Given the description of an element on the screen output the (x, y) to click on. 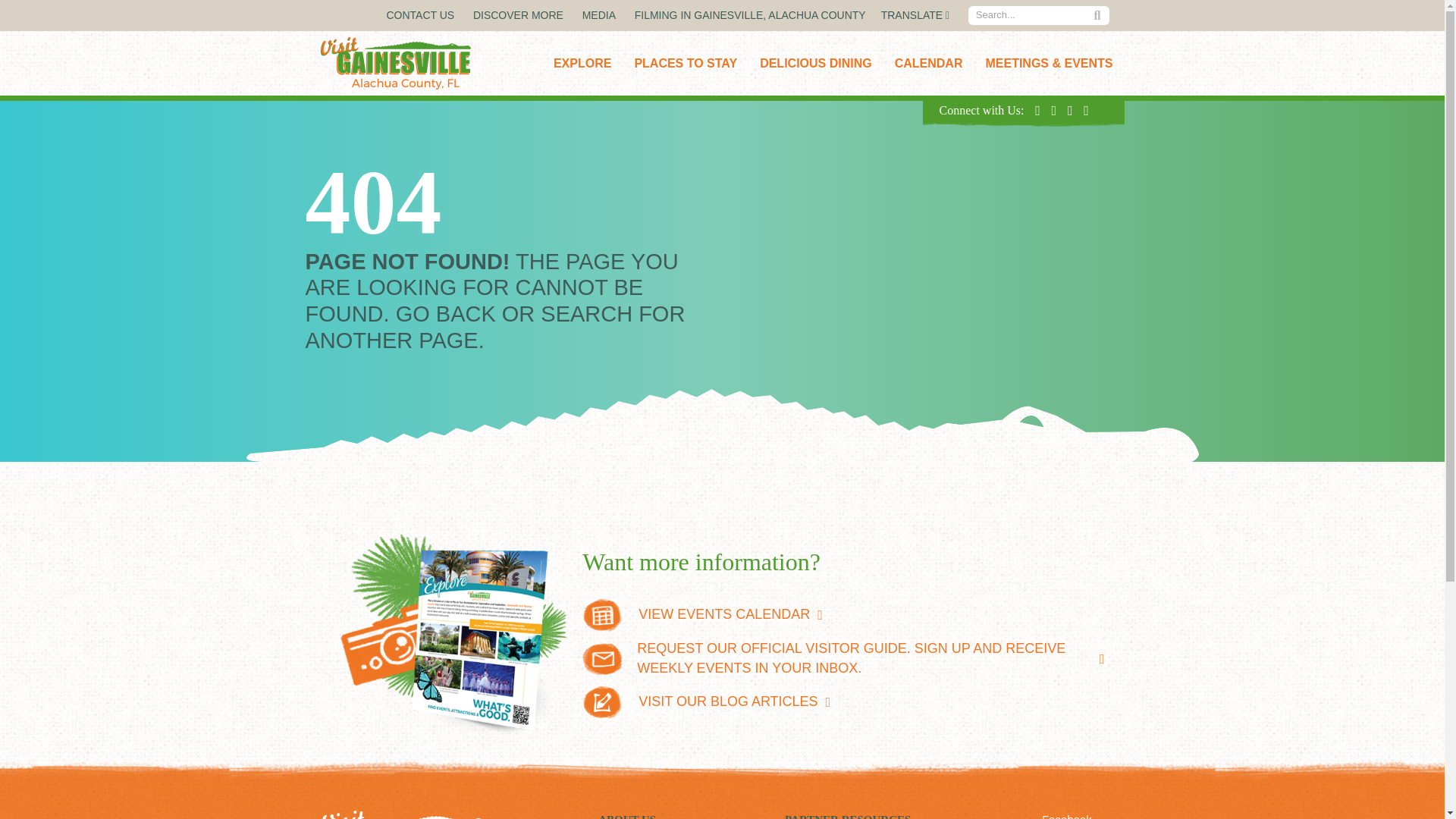
MEDIA (598, 15)
Go to home page (443, 814)
TRANSLATE (914, 15)
FILMING IN GAINESVILLE, ALACHUA COUNTY (750, 15)
DISCOVER MORE (518, 15)
Search... (1029, 15)
CONTACT US (419, 15)
